Given the description of an element on the screen output the (x, y) to click on. 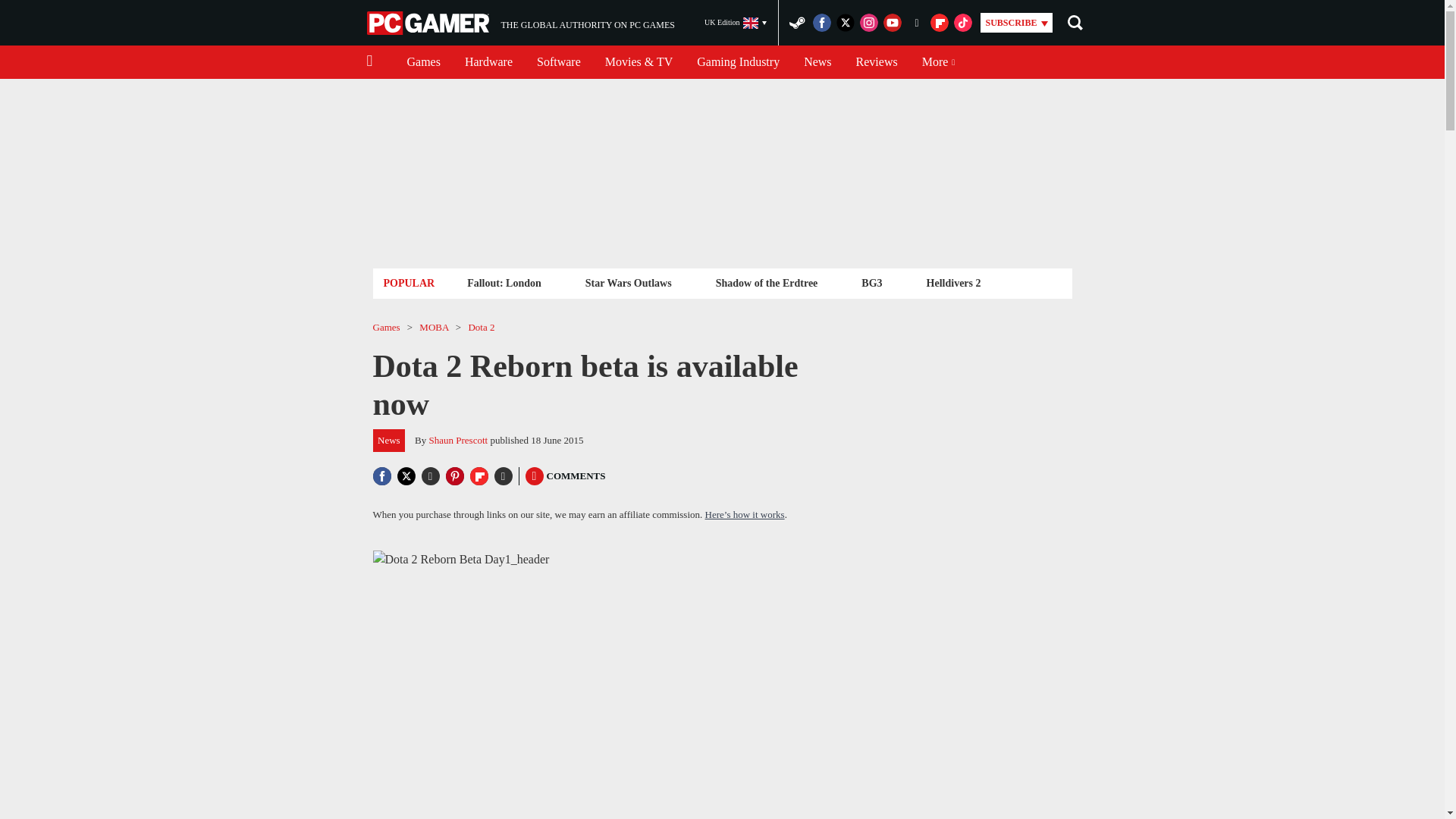
Gaming Industry (738, 61)
Software (558, 61)
Games (422, 61)
Star Wars Outlaws (628, 282)
UK Edition (735, 22)
Reviews (520, 22)
Fallout: London (877, 61)
PC Gamer (504, 282)
Hardware (429, 22)
News (488, 61)
